Given the description of an element on the screen output the (x, y) to click on. 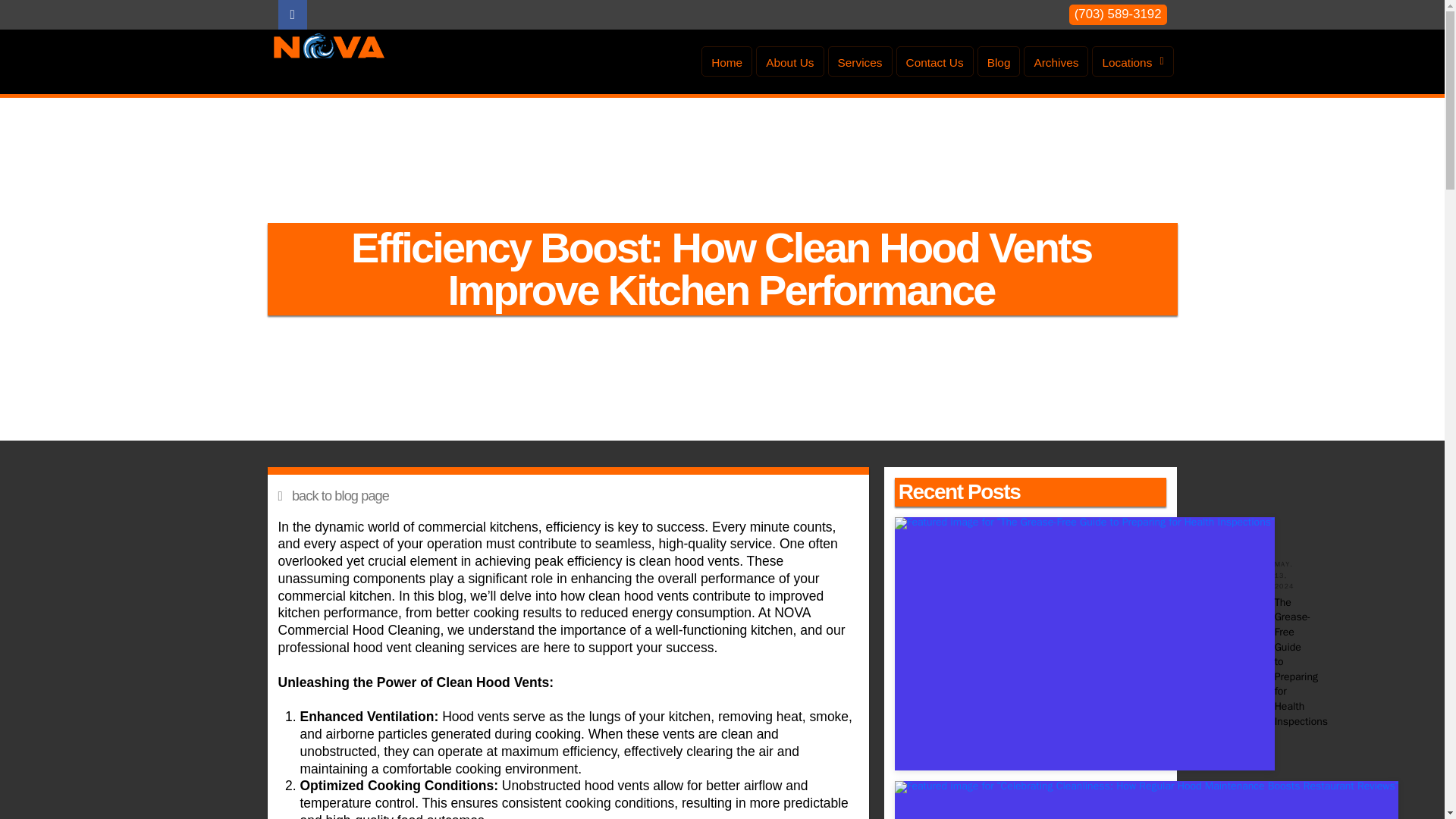
About Us (789, 60)
back to blog page (567, 495)
Home (726, 60)
Services (860, 60)
Archives (1055, 60)
Blog (998, 60)
Locations (1132, 60)
Contact Us (935, 60)
